Given the description of an element on the screen output the (x, y) to click on. 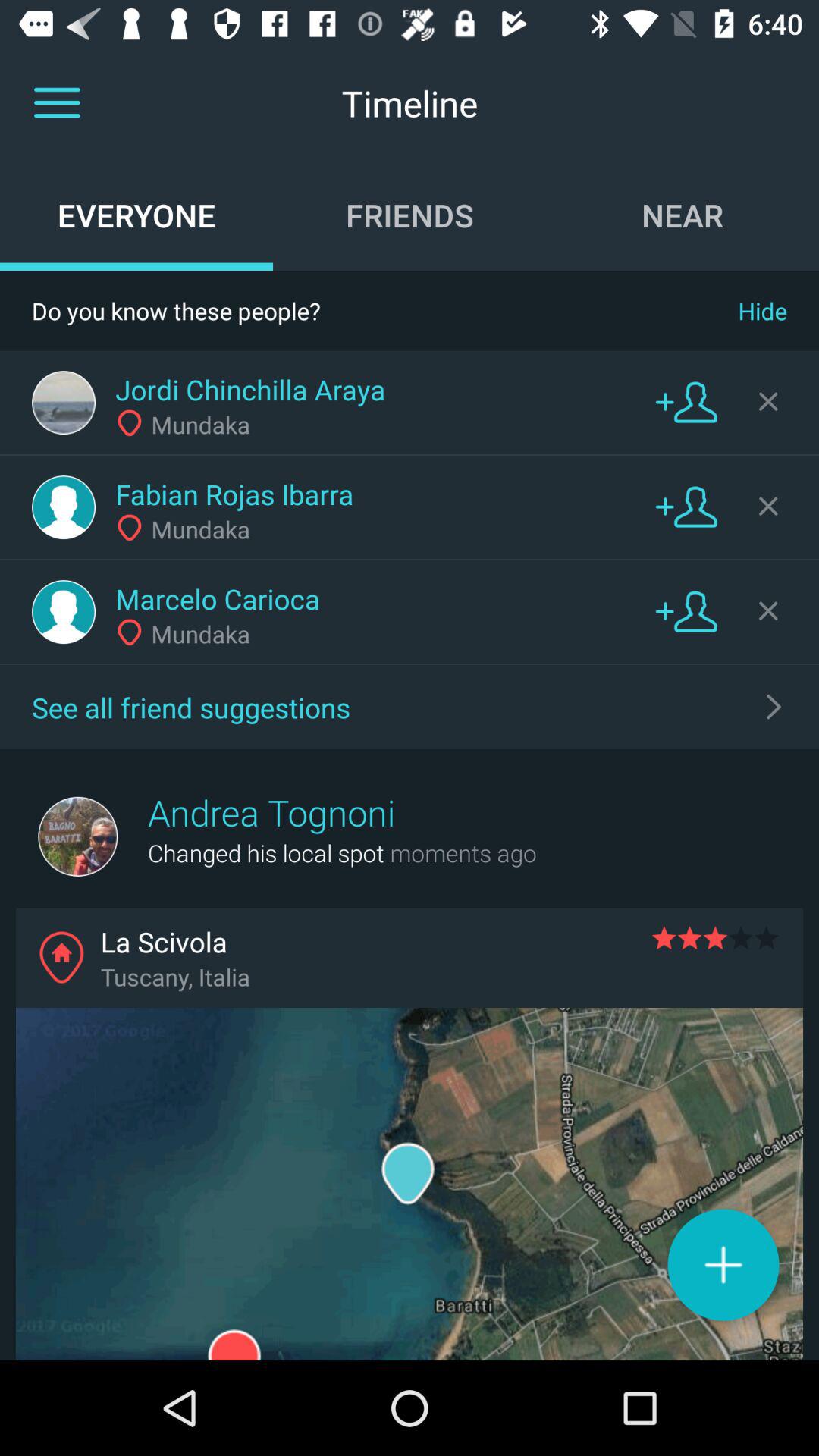
add contact (686, 611)
